Given the description of an element on the screen output the (x, y) to click on. 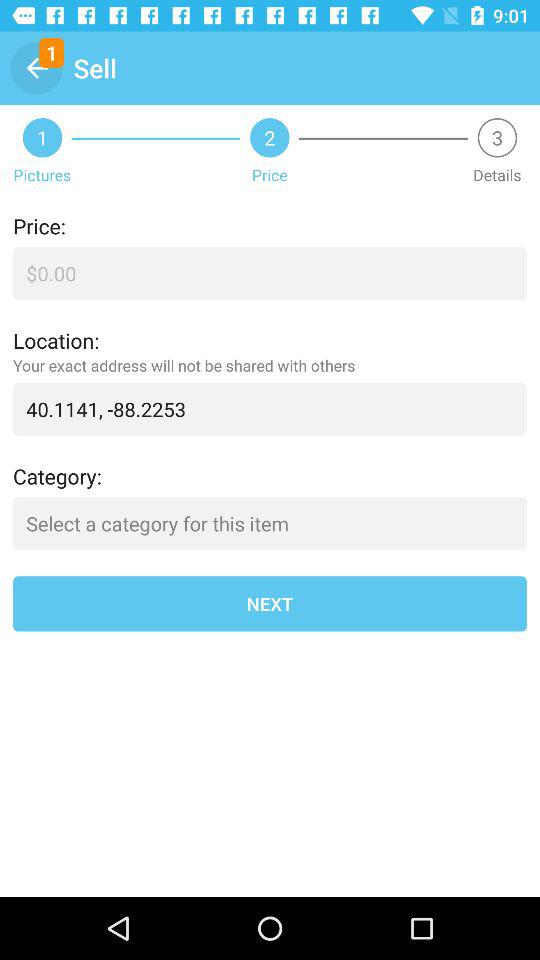
jump to 40 1141 88 item (269, 408)
